Given the description of an element on the screen output the (x, y) to click on. 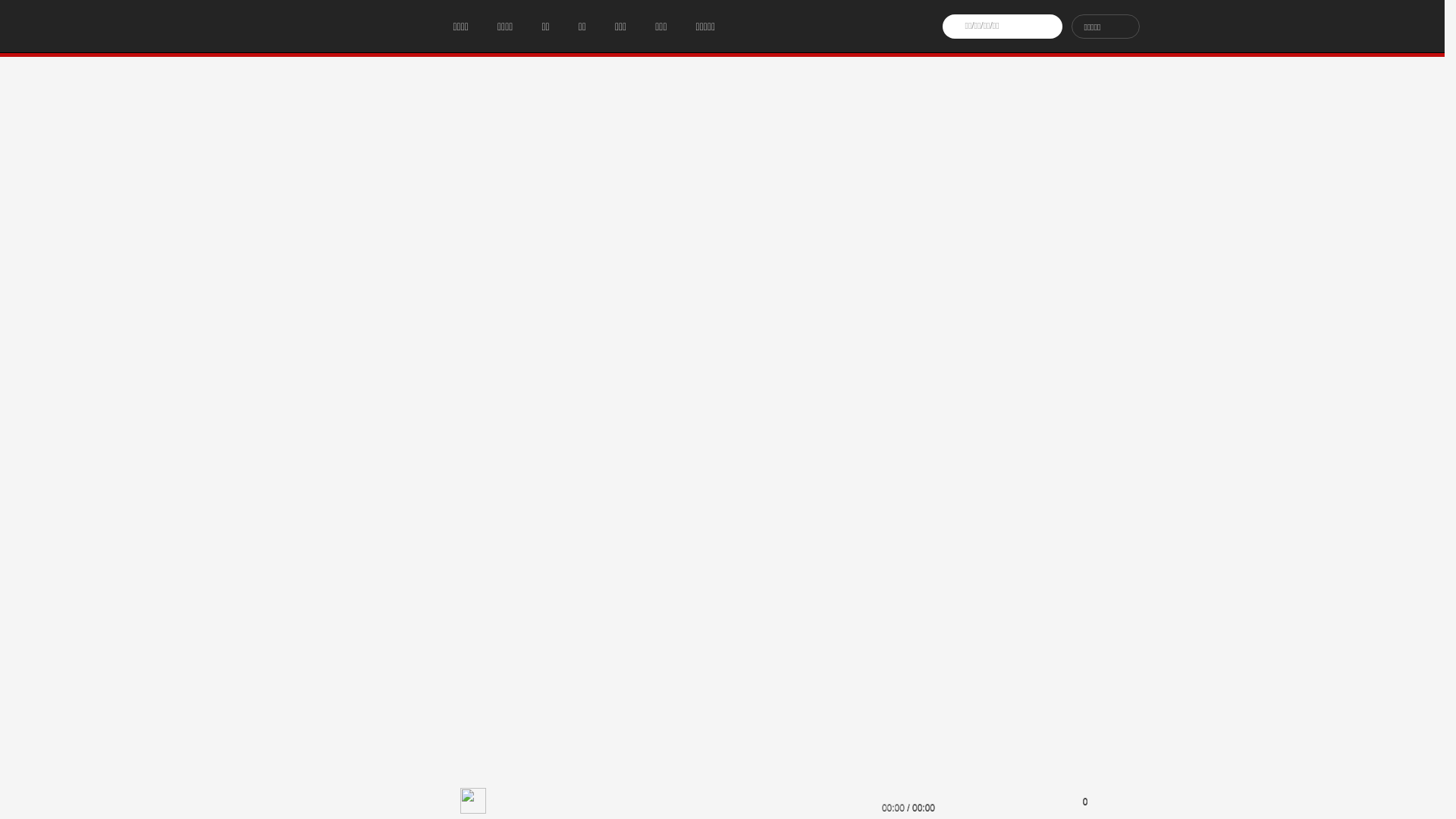
0 Element type: text (1076, 800)
